Given the description of an element on the screen output the (x, y) to click on. 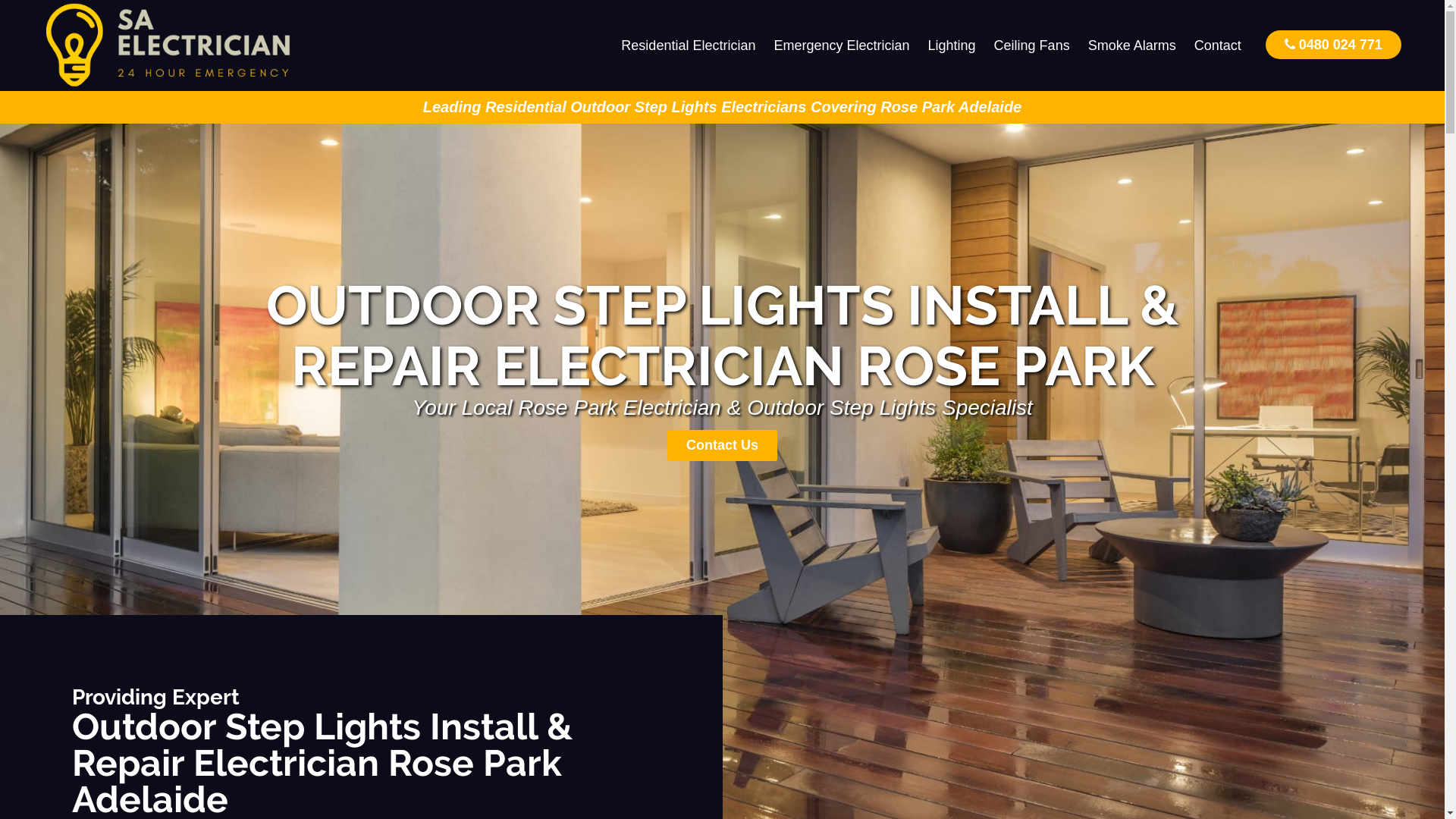
Smoke Alarms Element type: text (1132, 45)
0480 024 771 Element type: text (1333, 44)
Residential Electrician Element type: text (687, 45)
Contact Us Element type: text (722, 445)
Ceiling Fans Element type: text (1032, 45)
Contact Element type: text (1217, 45)
Lighting Element type: text (952, 45)
Emergency Electrician Element type: text (841, 45)
